Given the description of an element on the screen output the (x, y) to click on. 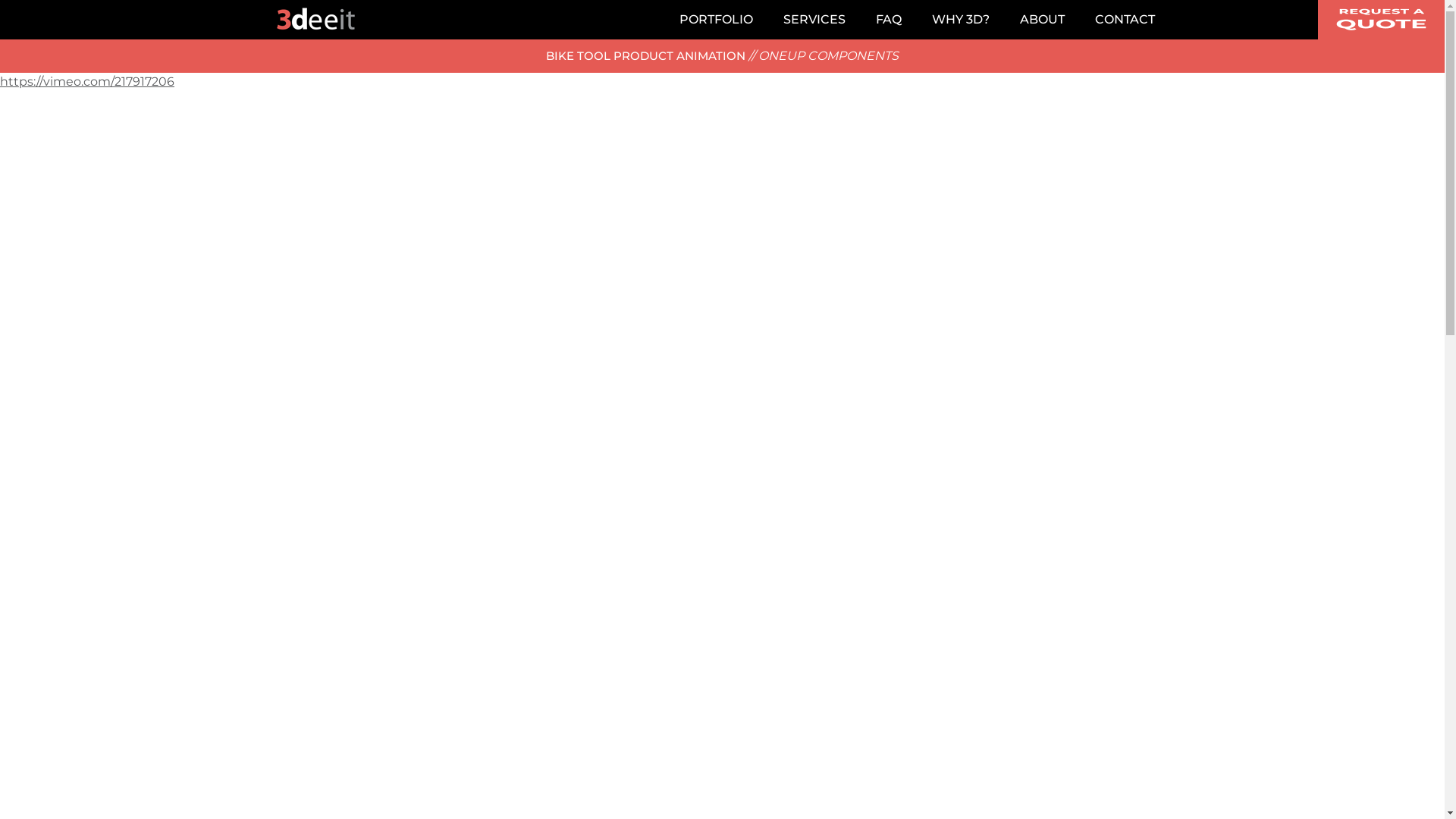
CONTACT Element type: text (1124, 19)
PORTFOLIO Element type: text (716, 19)
Skip to main content Element type: text (0, 0)
https://vimeo.com/217917206 Element type: text (87, 81)
SERVICES Element type: text (813, 19)
ABOUT Element type: text (1041, 19)
FAQ Element type: text (887, 19)
WHY 3D? Element type: text (960, 19)
